Given the description of an element on the screen output the (x, y) to click on. 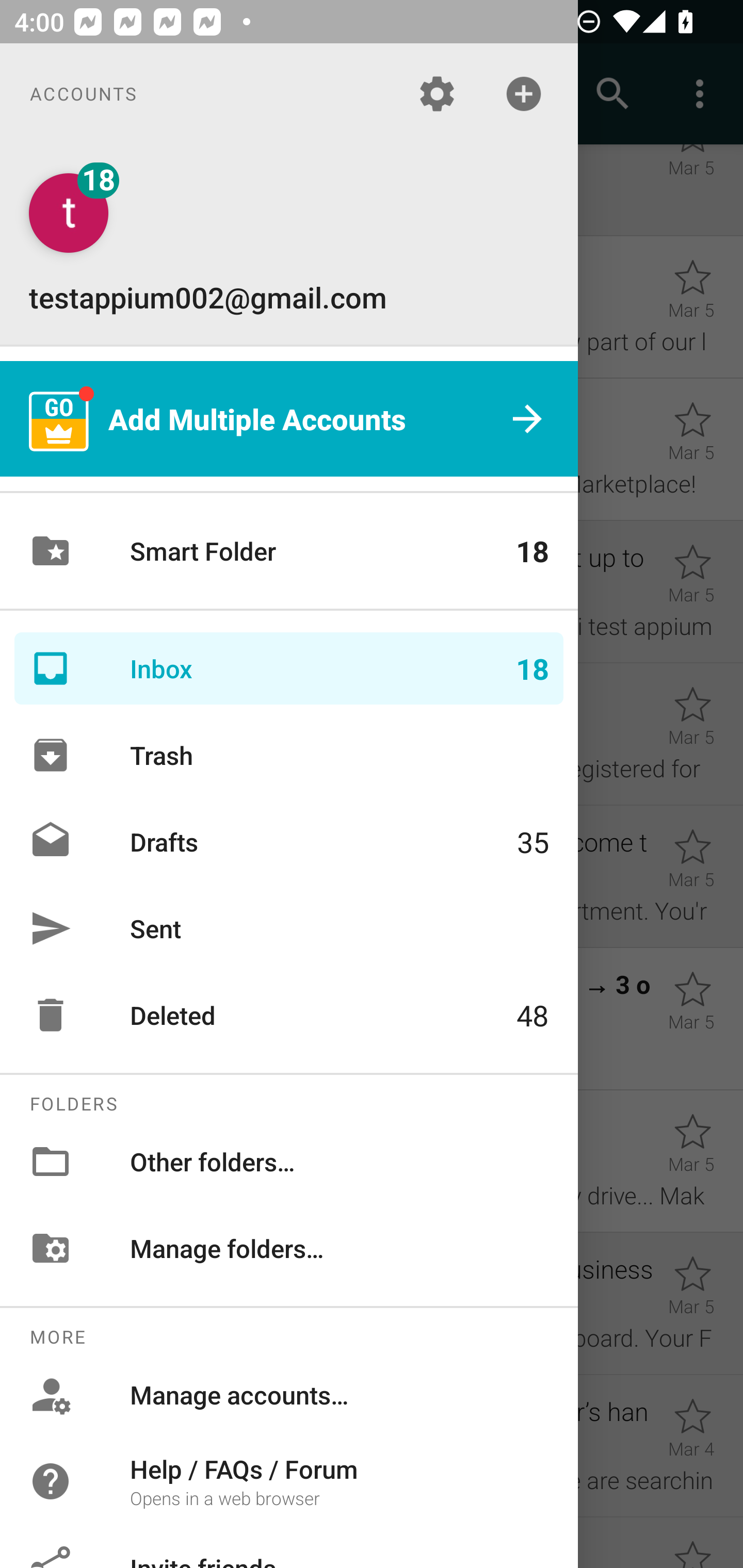
testappium002@gmail.com (289, 244)
Add Multiple Accounts (289, 418)
Smart Folder 18 (289, 551)
Inbox 18 (289, 668)
Trash (289, 754)
Drafts 35 (289, 841)
Sent (289, 928)
Deleted 48 (289, 1015)
Other folders… (289, 1160)
Manage folders… (289, 1248)
Manage accounts… (289, 1394)
Help / FAQs / Forum Opens in a web browser (289, 1480)
